Given the description of an element on the screen output the (x, y) to click on. 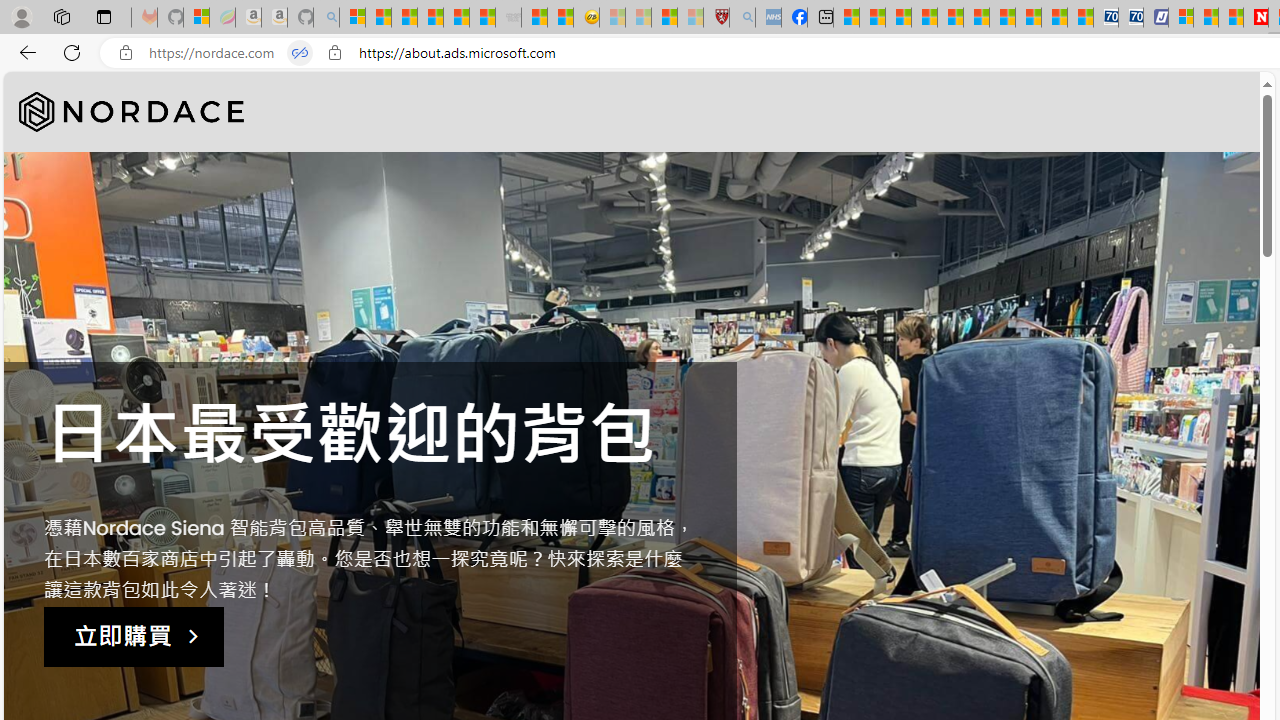
Personal Profile (21, 16)
Combat Siege - Sleeping (507, 17)
Tab actions menu (104, 16)
Back (24, 52)
MSNBC - MSN (846, 17)
Stocks - MSN (482, 17)
